Given the description of an element on the screen output the (x, y) to click on. 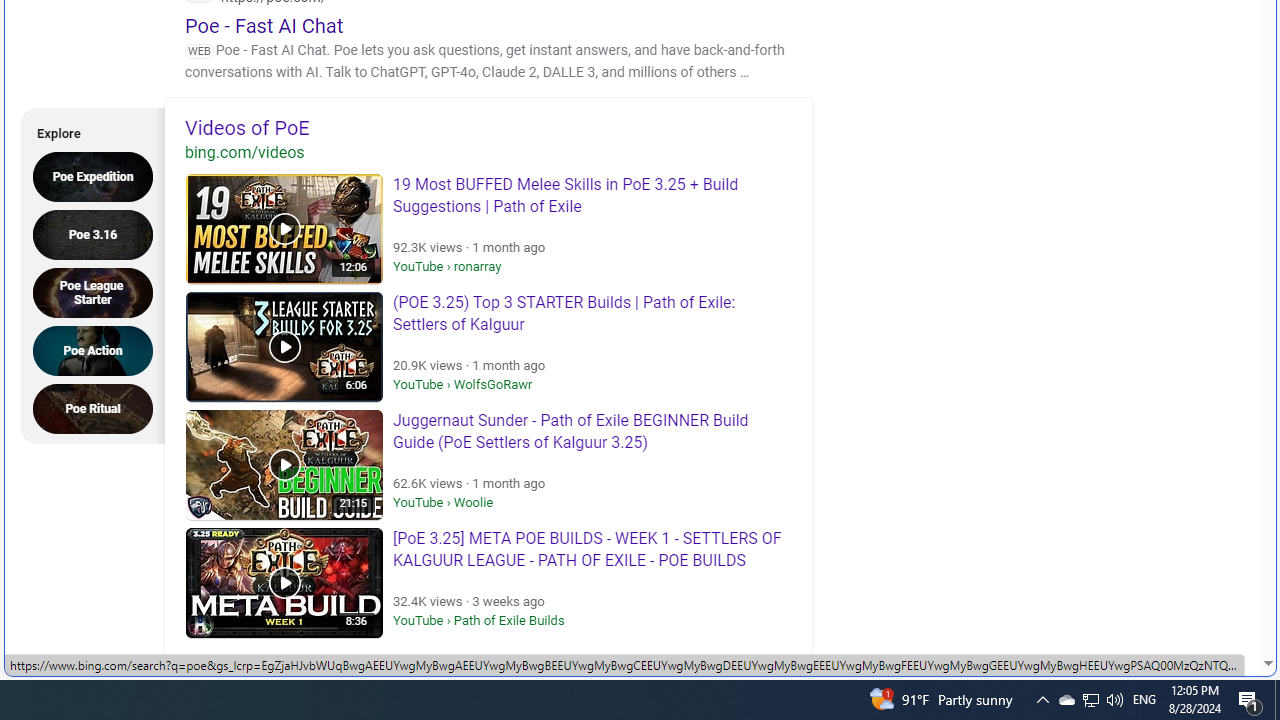
Search more (1222, 604)
Poe - Fast AI Chat (264, 25)
Videos of PoE (489, 127)
